Given the description of an element on the screen output the (x, y) to click on. 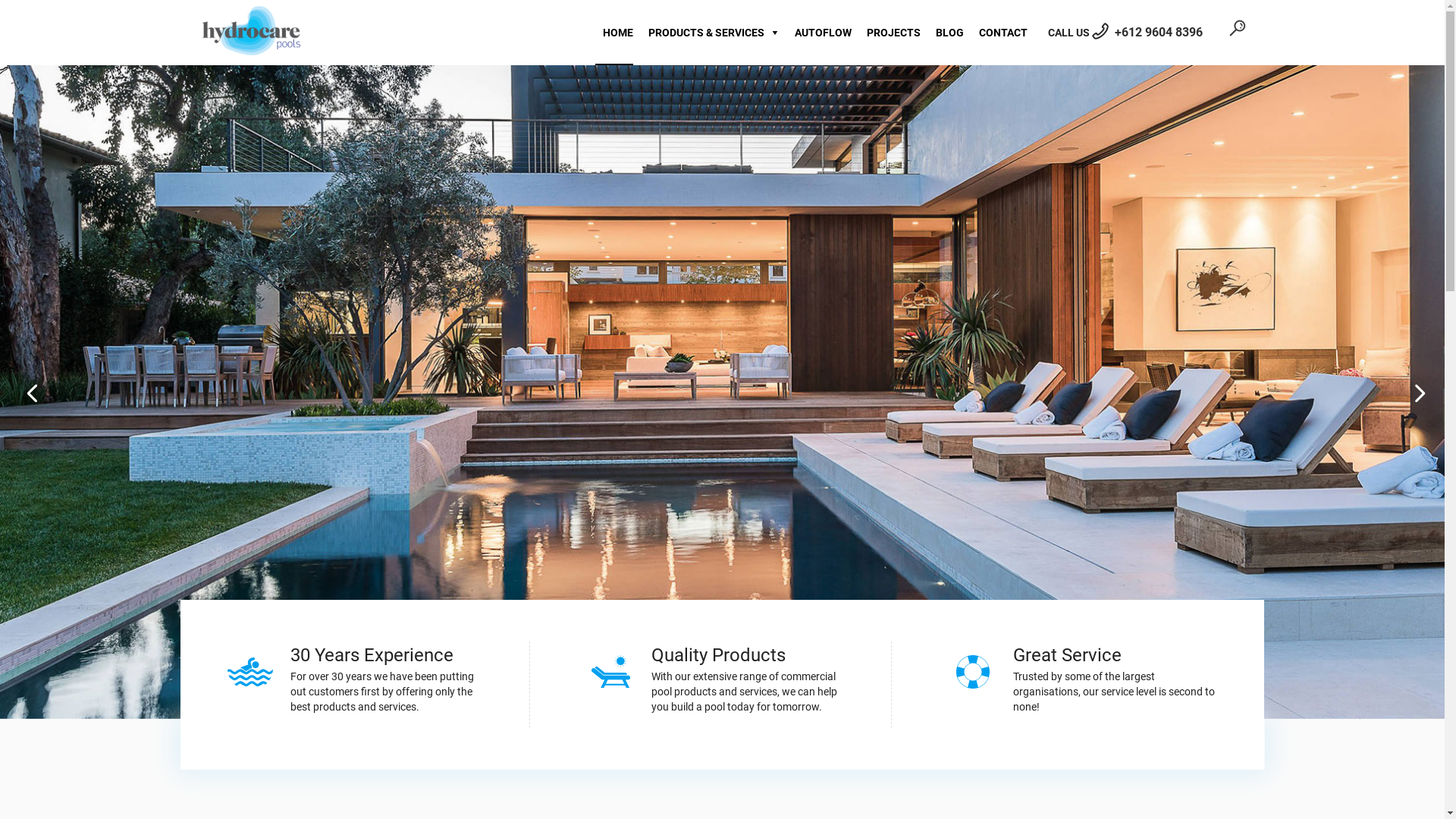
BLOG Element type: text (945, 32)
PROJECTS Element type: text (888, 32)
HOME Element type: text (613, 32)
+612 9604 8396 Element type: text (1158, 31)
AUTOFLOW Element type: text (819, 32)
CONTACT Element type: text (998, 32)
PRODUCTS & SERVICES Element type: text (709, 32)
